Given the description of an element on the screen output the (x, y) to click on. 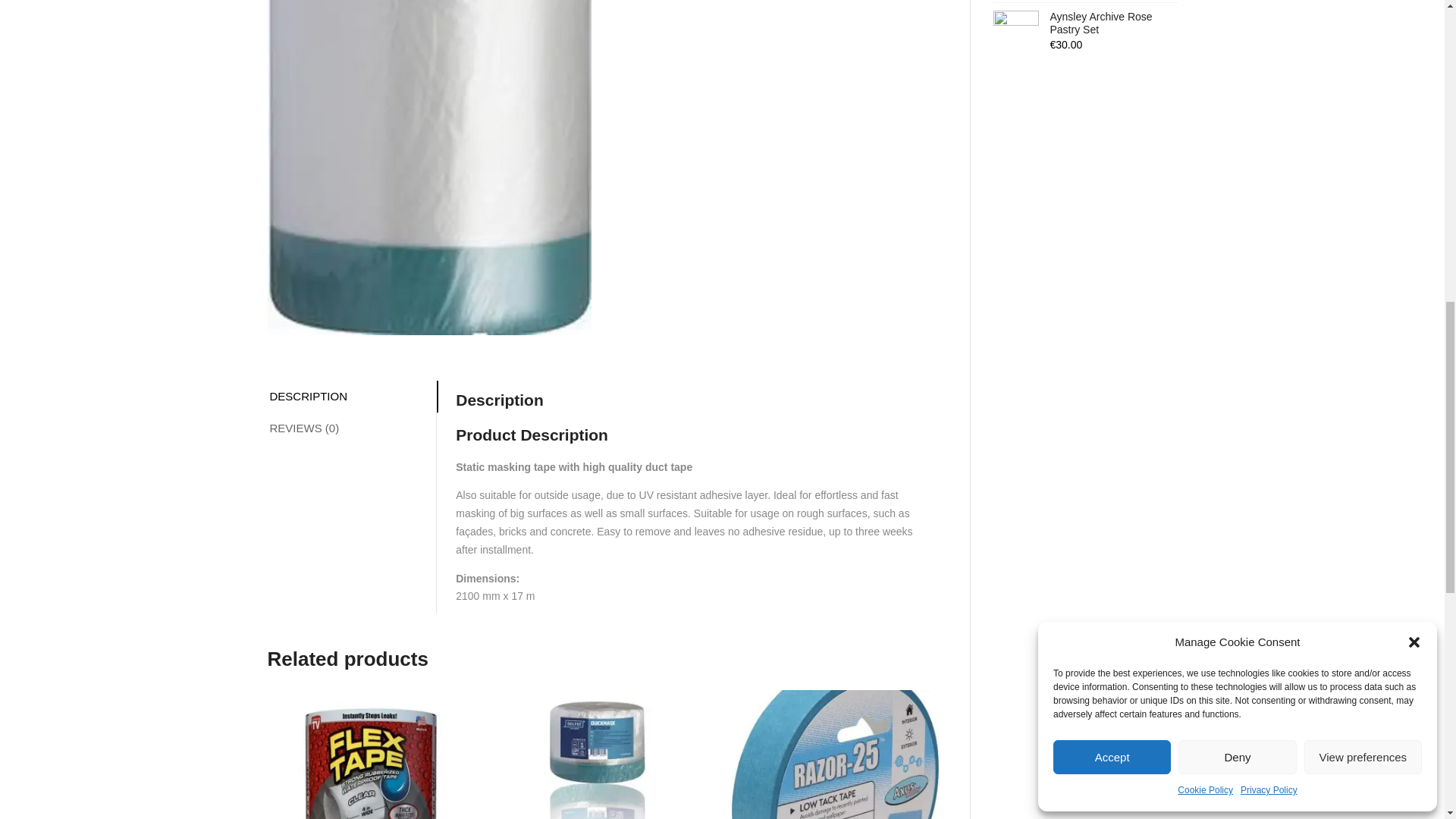
DELTEC QUICKMASK LARGE (428, 167)
